Given the description of an element on the screen output the (x, y) to click on. 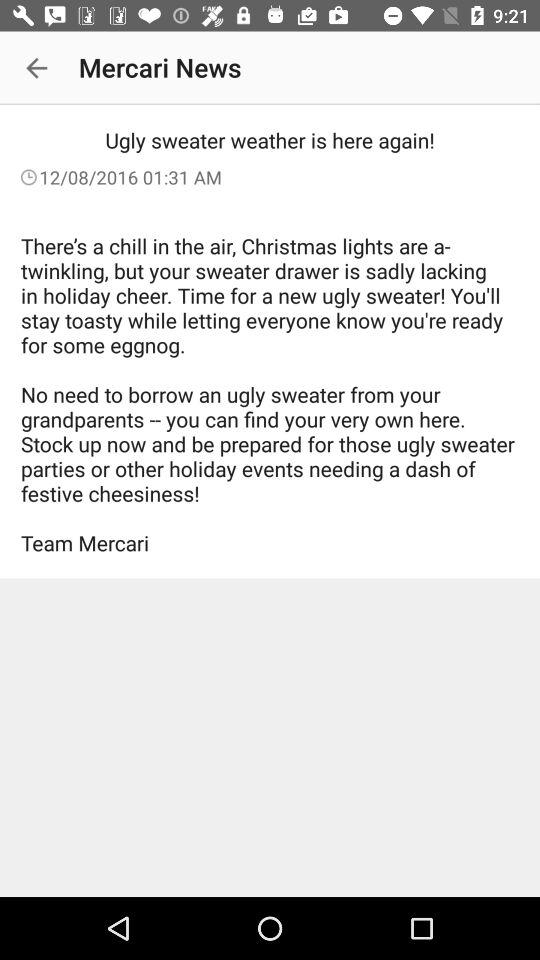
press item to the left of mercari news icon (36, 67)
